Given the description of an element on the screen output the (x, y) to click on. 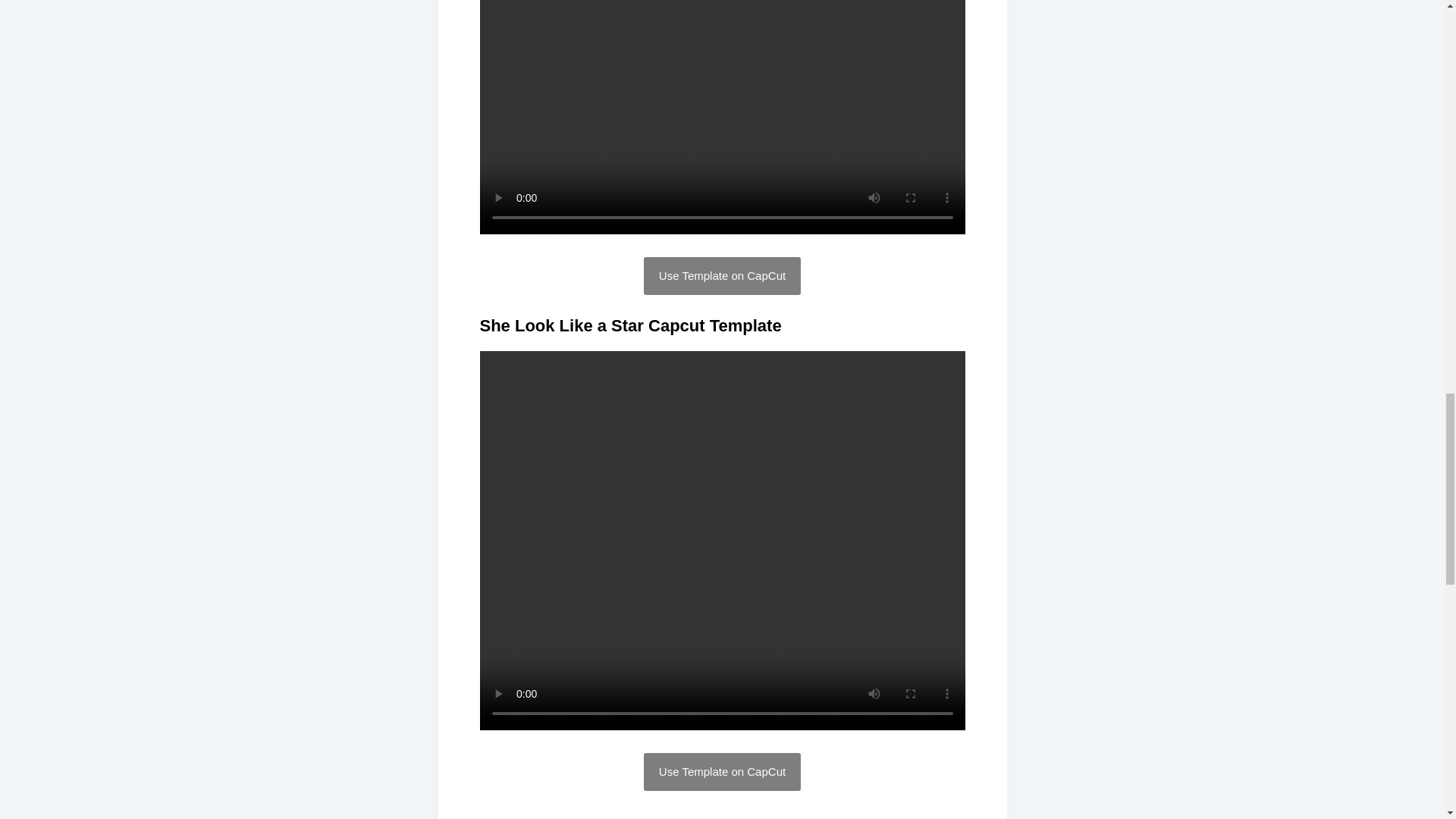
Use Template on CapCut (721, 771)
Use Template on CapCut (721, 275)
